Given the description of an element on the screen output the (x, y) to click on. 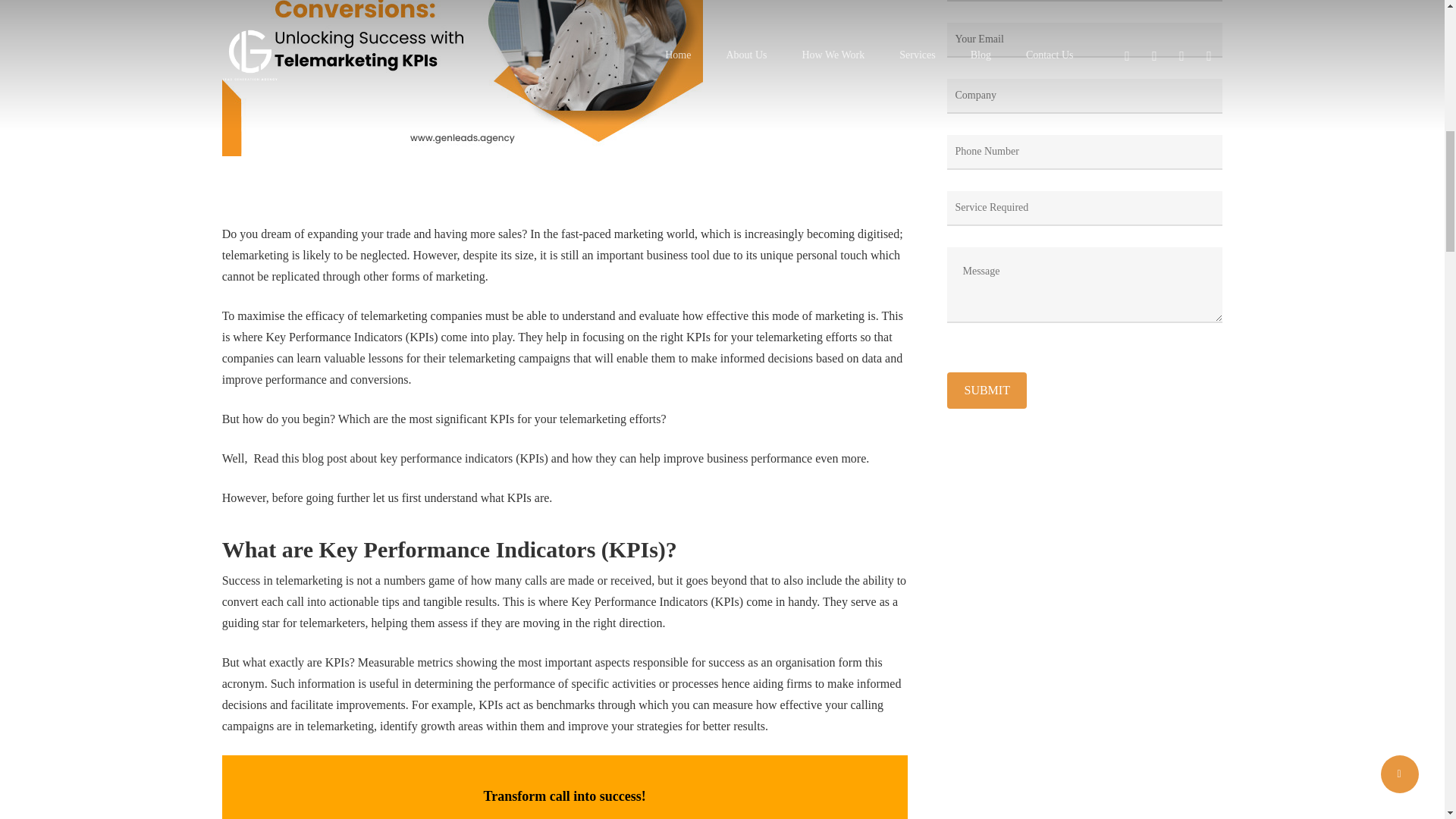
SUBMIT (986, 390)
SUBMIT (986, 390)
